Given the description of an element on the screen output the (x, y) to click on. 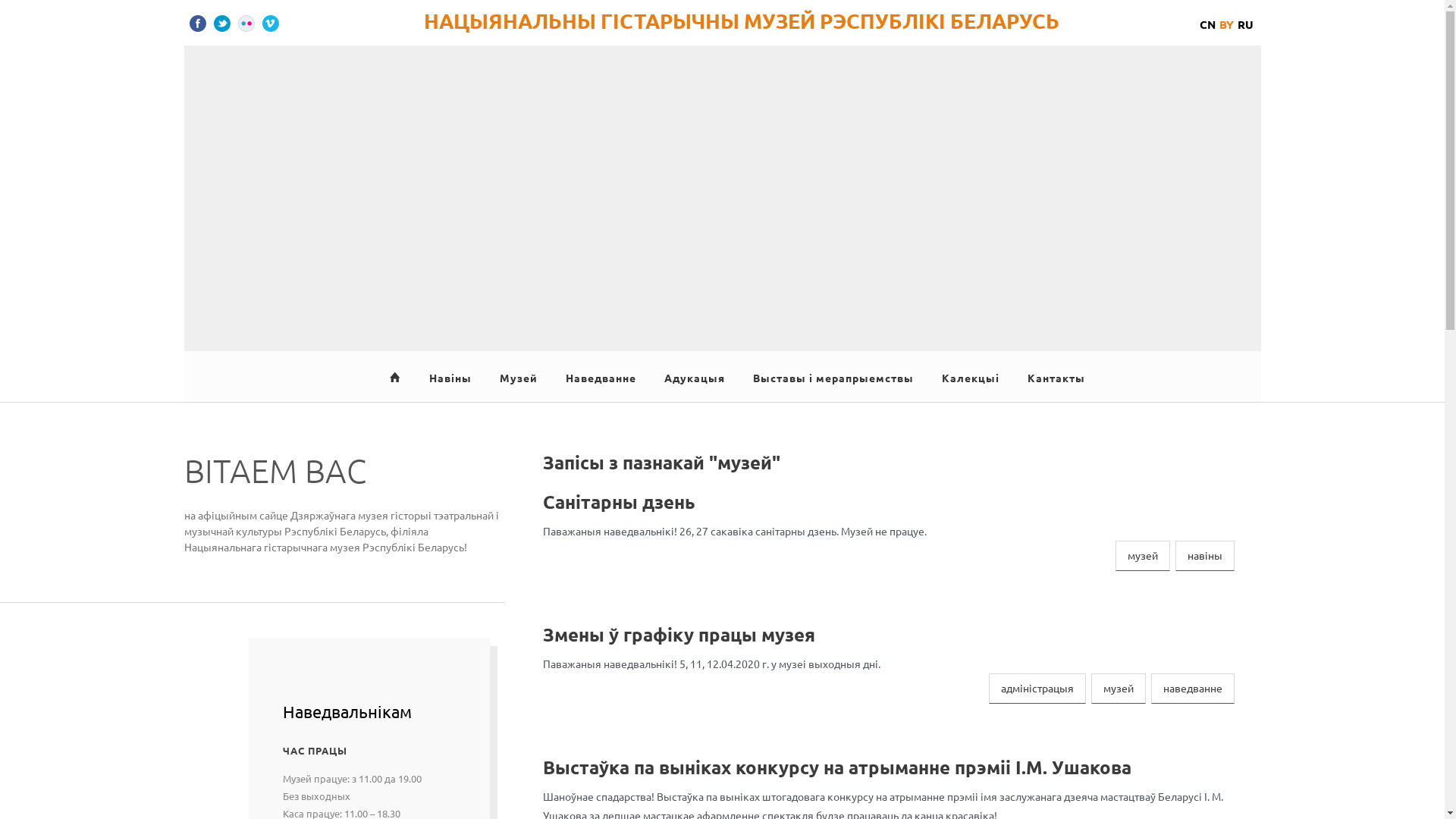
Flickr Element type: hover (246, 23)
RU Element type: text (1245, 23)
Facebook Element type: hover (197, 23)
CN Element type: text (1207, 23)
BY Element type: text (1226, 23)
Twitter Element type: hover (221, 23)
Vimeo Element type: hover (270, 23)
